Given the description of an element on the screen output the (x, y) to click on. 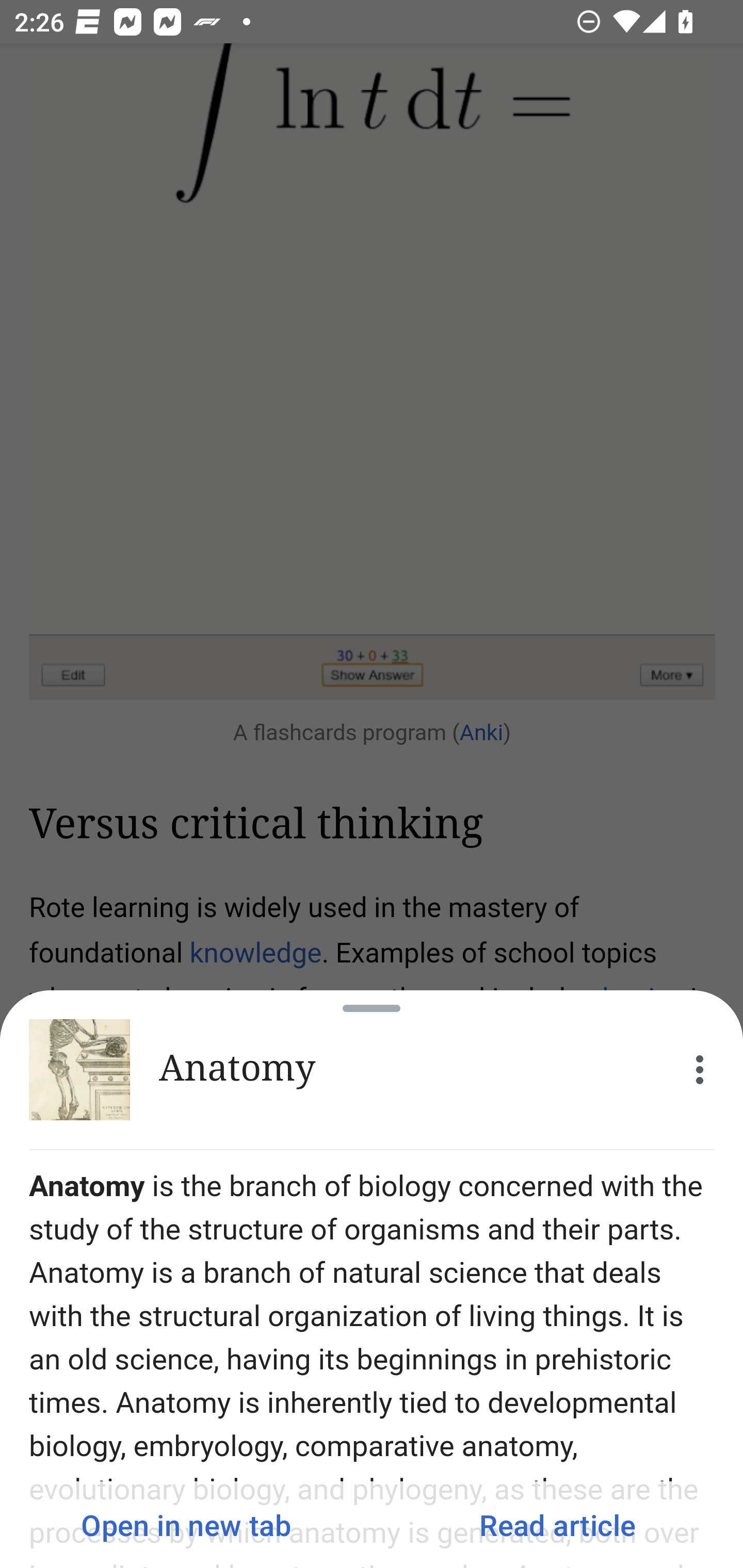
Anatomy More options (371, 1069)
More options (699, 1070)
Open in new tab (185, 1524)
Read article (557, 1524)
